Given the description of an element on the screen output the (x, y) to click on. 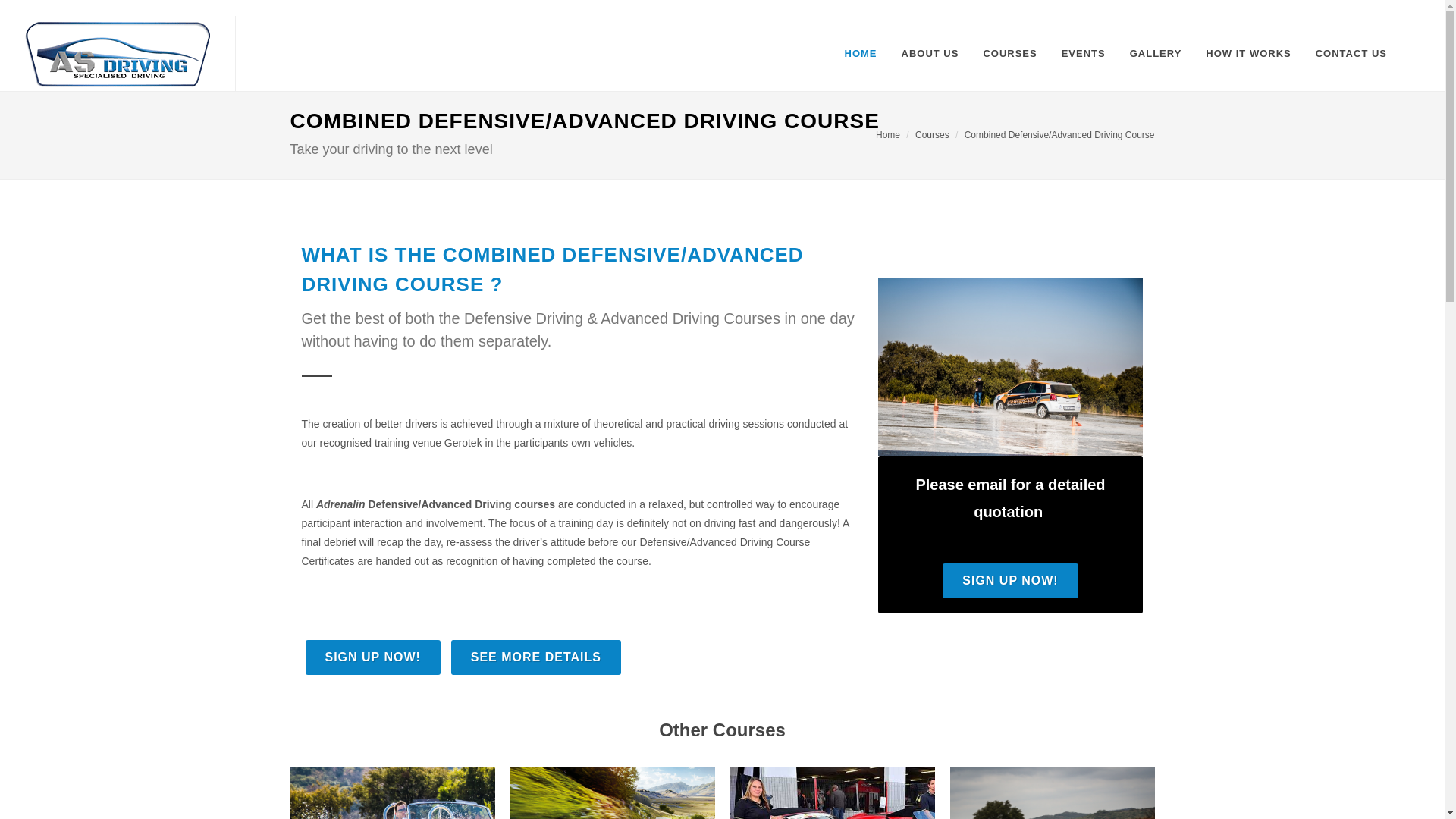
Courses (932, 133)
EVENTS (1082, 53)
CONTACT US (1350, 53)
ABOUT US (930, 53)
COURSES (1009, 53)
SIGN UP NOW! (371, 656)
HOME (860, 53)
SEE MORE DETAILS (536, 656)
HOW IT WORKS (1247, 53)
GALLERY (1155, 53)
Home (887, 133)
SIGN UP NOW! (1009, 580)
